Given the description of an element on the screen output the (x, y) to click on. 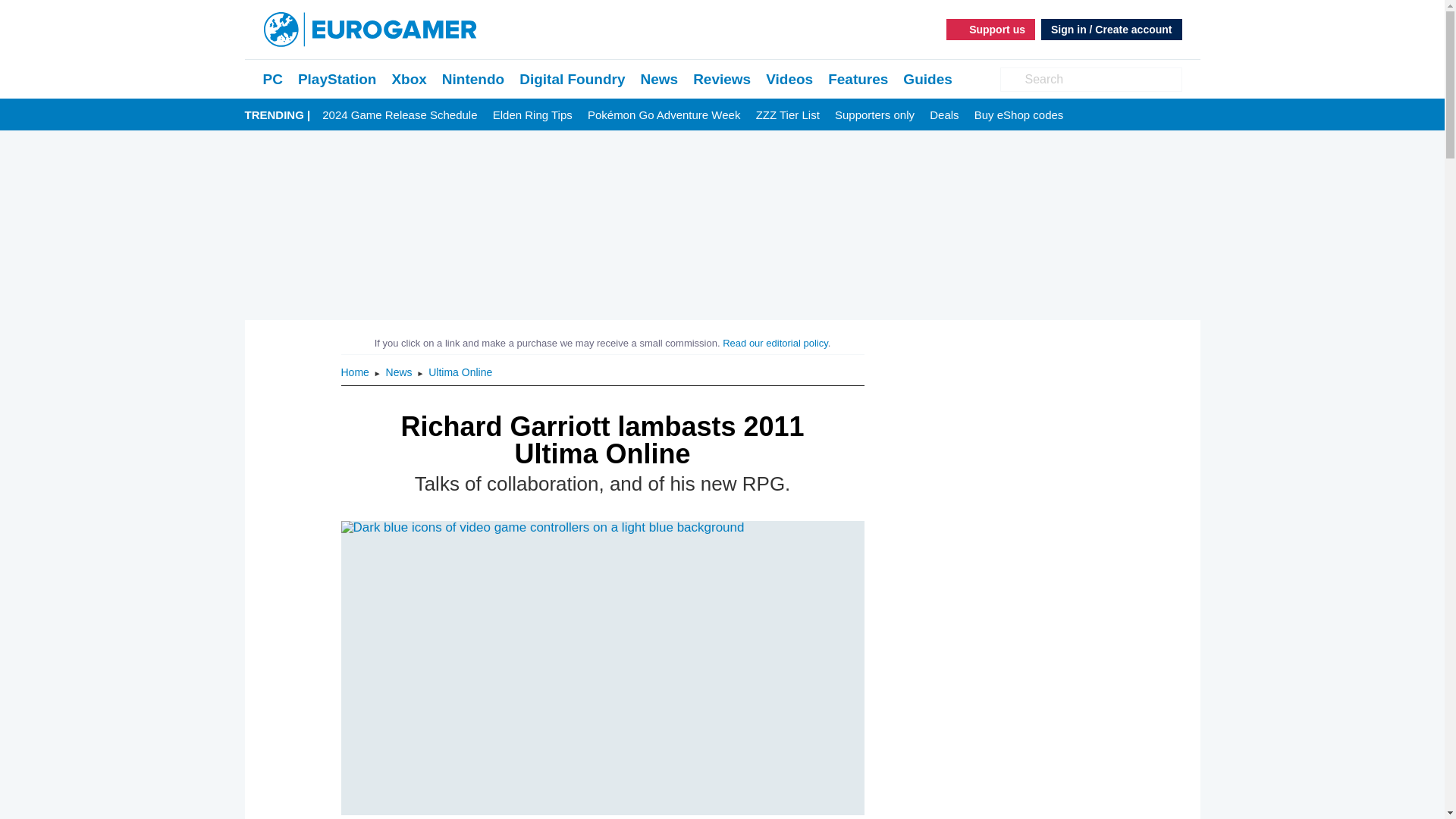
Nintendo (472, 78)
Supporters only (874, 114)
Ultima Online (460, 372)
Home (356, 372)
Videos (788, 78)
Nintendo (472, 78)
Home (356, 372)
PlayStation (336, 78)
2024 Game Release Schedule (399, 114)
News (399, 372)
